Given the description of an element on the screen output the (x, y) to click on. 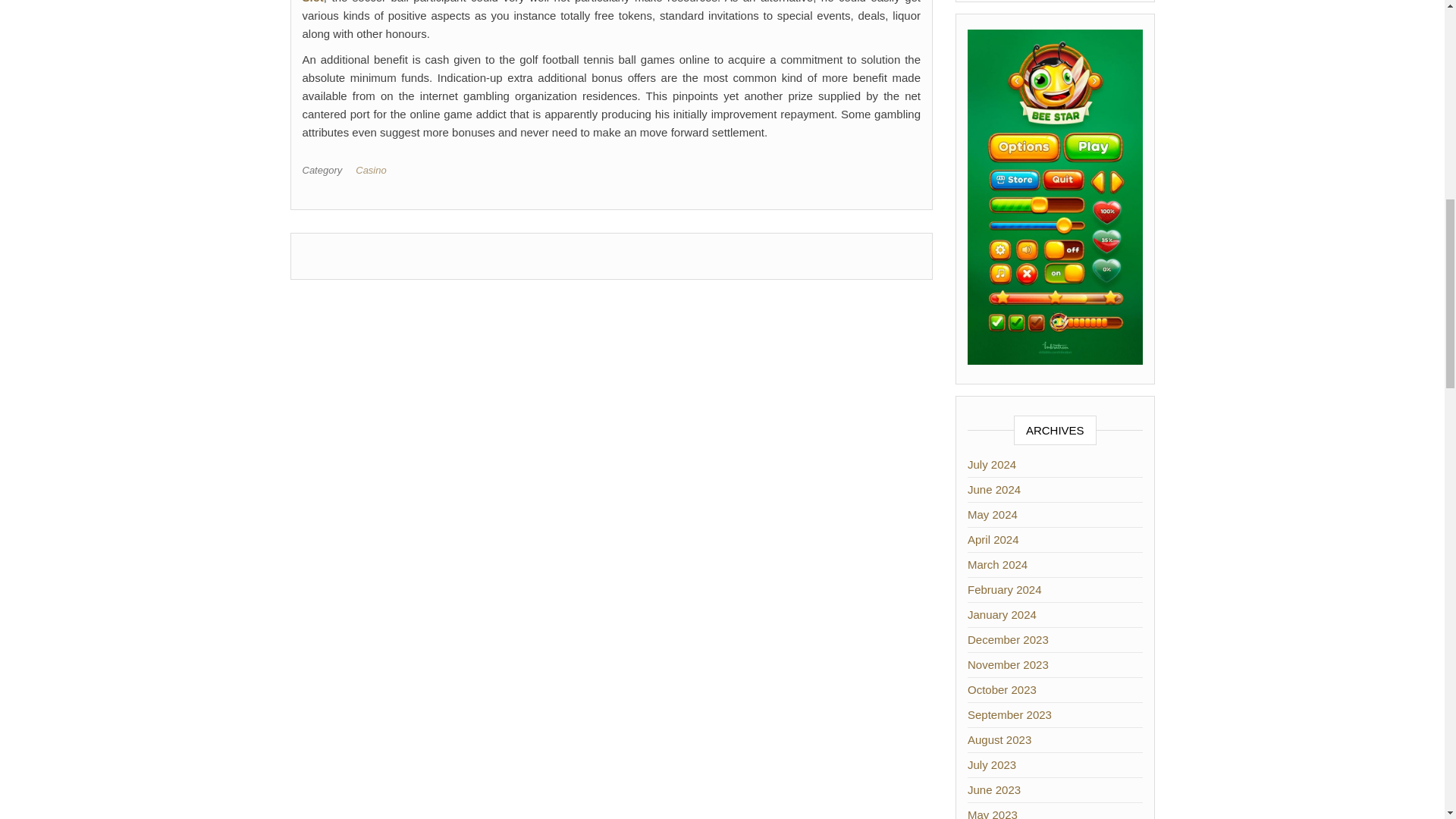
July 2023 (992, 764)
November 2023 (1008, 664)
September 2023 (1009, 714)
May 2023 (992, 813)
August 2023 (999, 739)
April 2024 (993, 539)
February 2024 (1005, 589)
October 2023 (1002, 689)
December 2023 (1008, 639)
January 2024 (1002, 614)
Casino (373, 170)
March 2024 (997, 563)
July 2024 (992, 463)
May 2024 (992, 513)
